Given the description of an element on the screen output the (x, y) to click on. 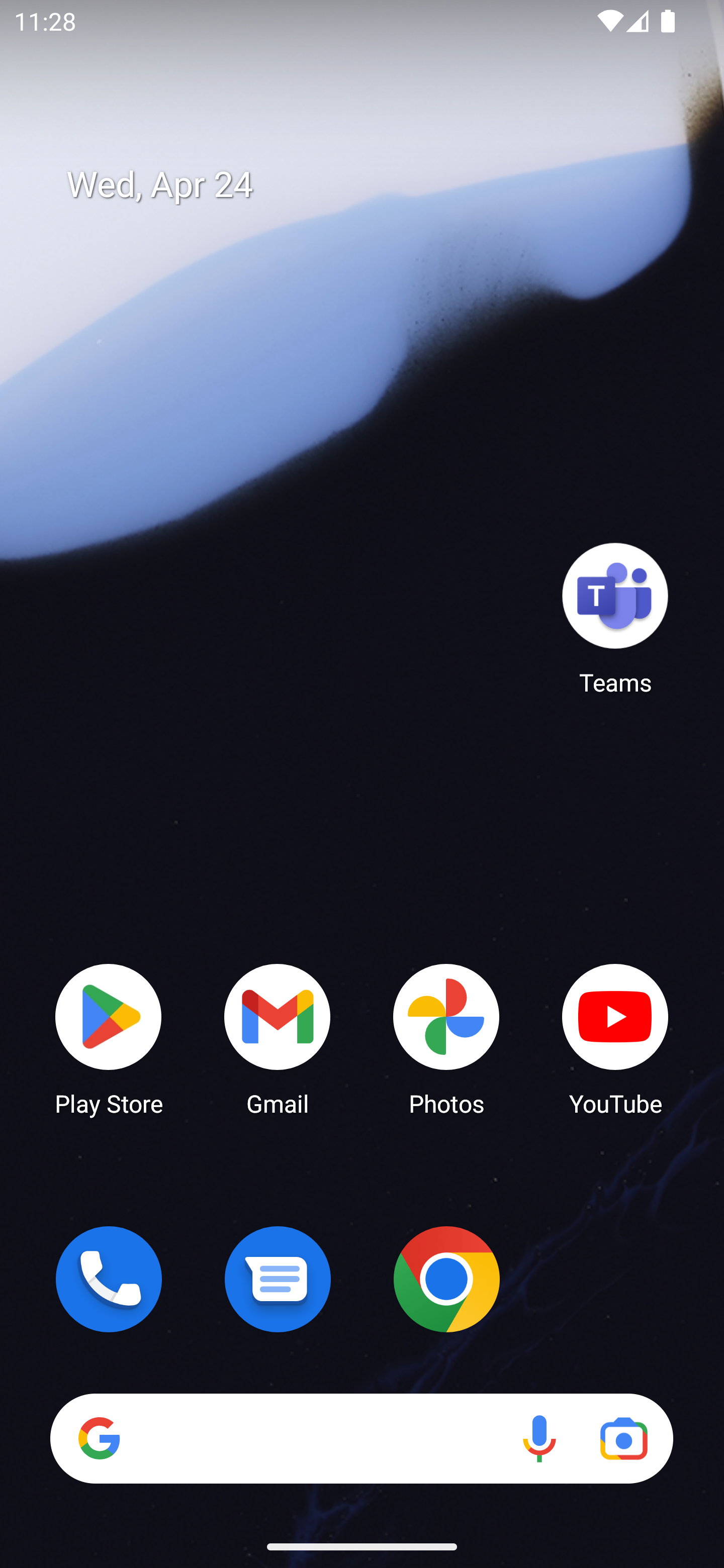
Wed, Apr 24 (375, 184)
Teams (615, 617)
Play Store (108, 1038)
Gmail (277, 1038)
Photos (445, 1038)
YouTube (615, 1038)
Phone (108, 1279)
Messages (277, 1279)
Chrome (446, 1279)
Search Voice search Google Lens (361, 1438)
Voice search (539, 1438)
Google Lens (623, 1438)
